Given the description of an element on the screen output the (x, y) to click on. 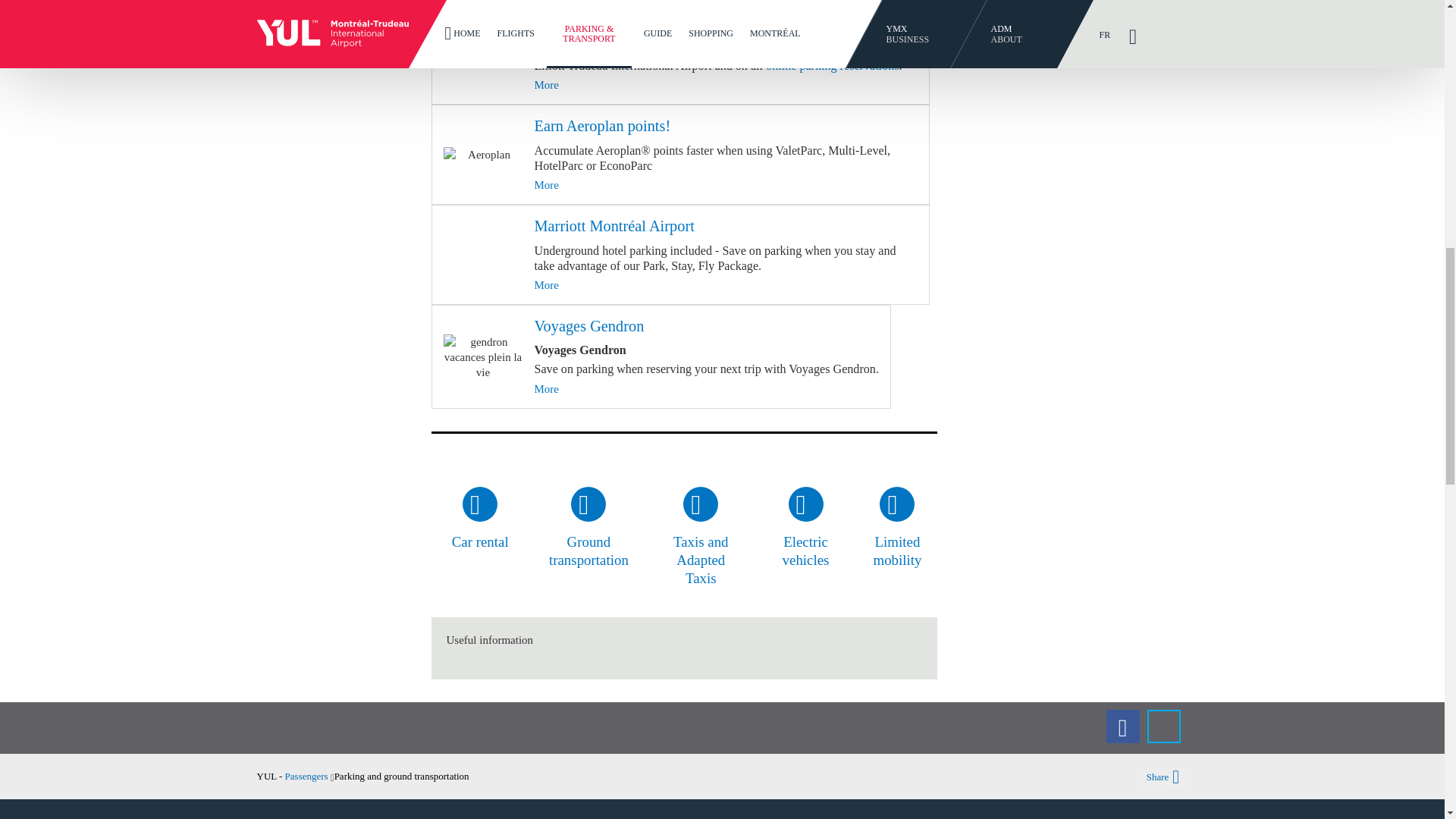
YUL (309, 776)
